Given the description of an element on the screen output the (x, y) to click on. 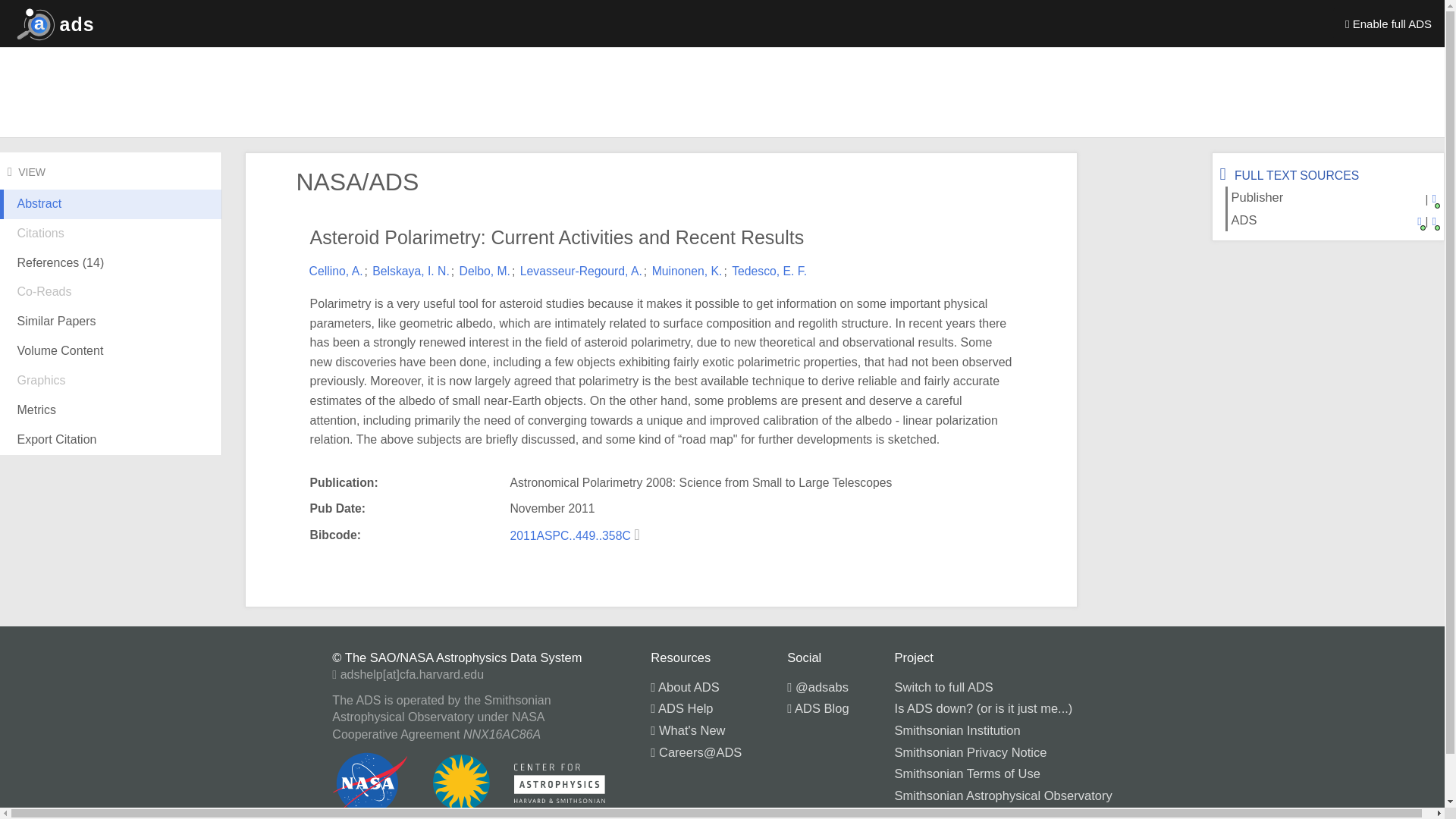
Smithsonian Terms of Use (968, 773)
Tedesco, E. F. (769, 270)
What's New (687, 730)
Enable full ADS (1388, 23)
Similar Papers (110, 321)
2011ASPC..449..358C (571, 535)
ADS Blog (817, 707)
Belskaya, I. N. (410, 270)
Export Citation (110, 440)
Cellino, A. (335, 270)
Smithsonian Astrophysical Observatory (1003, 795)
About ADS (684, 686)
Switch to full ADS (943, 686)
Metrics (110, 410)
ADS Help (681, 707)
